Given the description of an element on the screen output the (x, y) to click on. 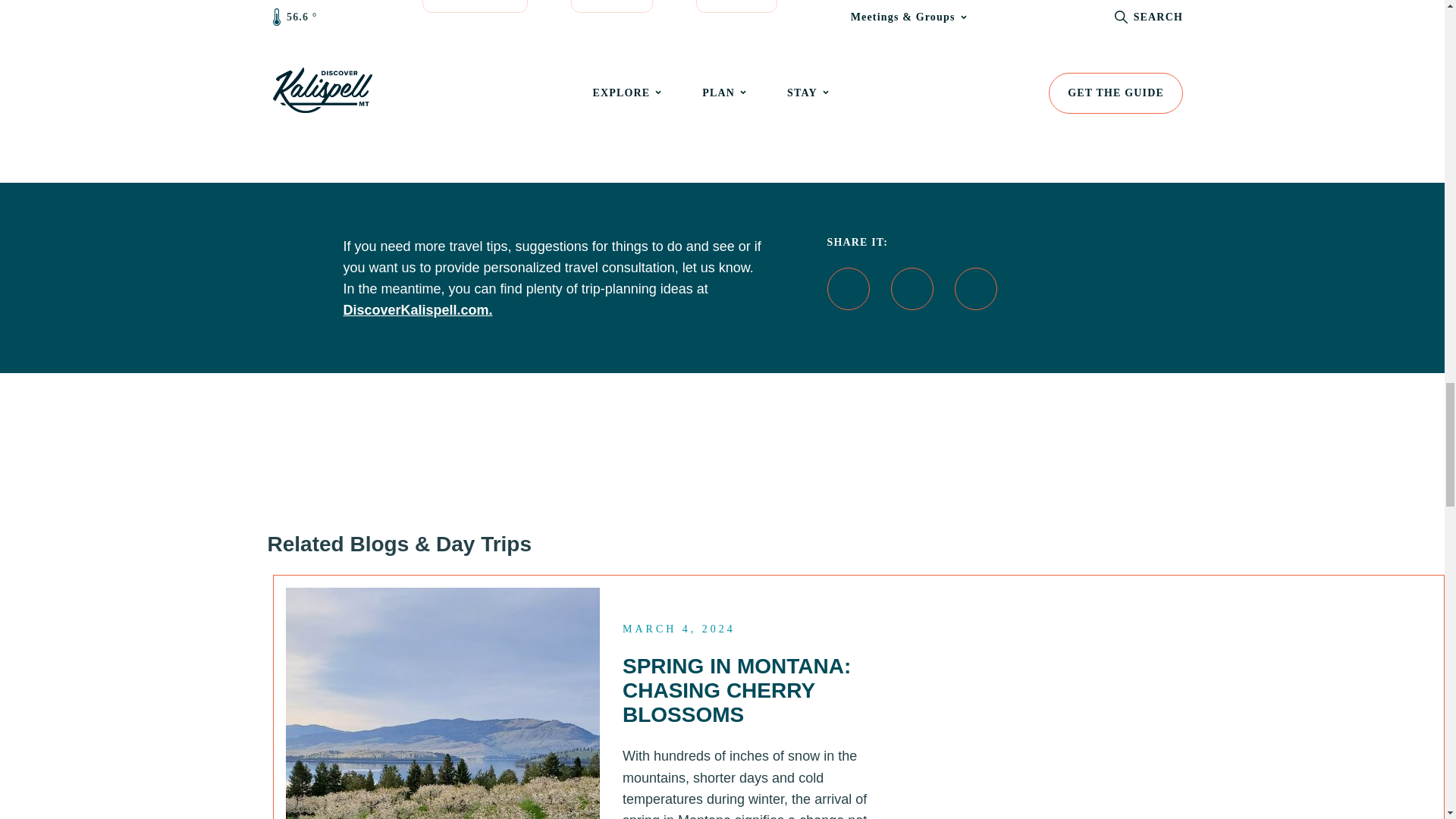
Share Article in X (911, 289)
Show all posts with tag: trails (736, 6)
Share Article in Facebook (847, 289)
Show all posts with tag: kalispell (474, 6)
Show all posts with tag: spring (611, 6)
Copy Article Url (975, 289)
